Given the description of an element on the screen output the (x, y) to click on. 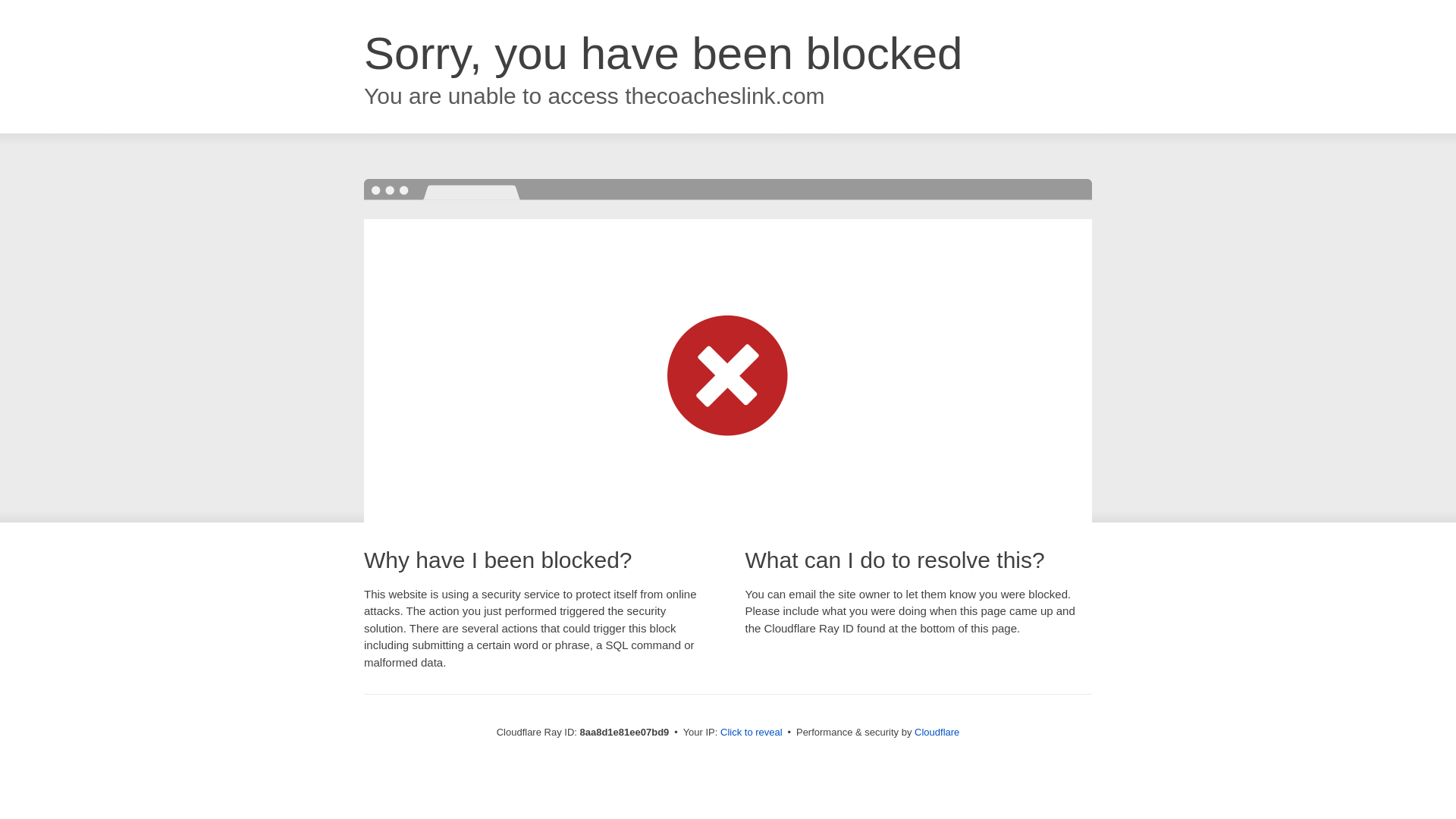
Click to reveal (751, 732)
Cloudflare (936, 731)
